Given the description of an element on the screen output the (x, y) to click on. 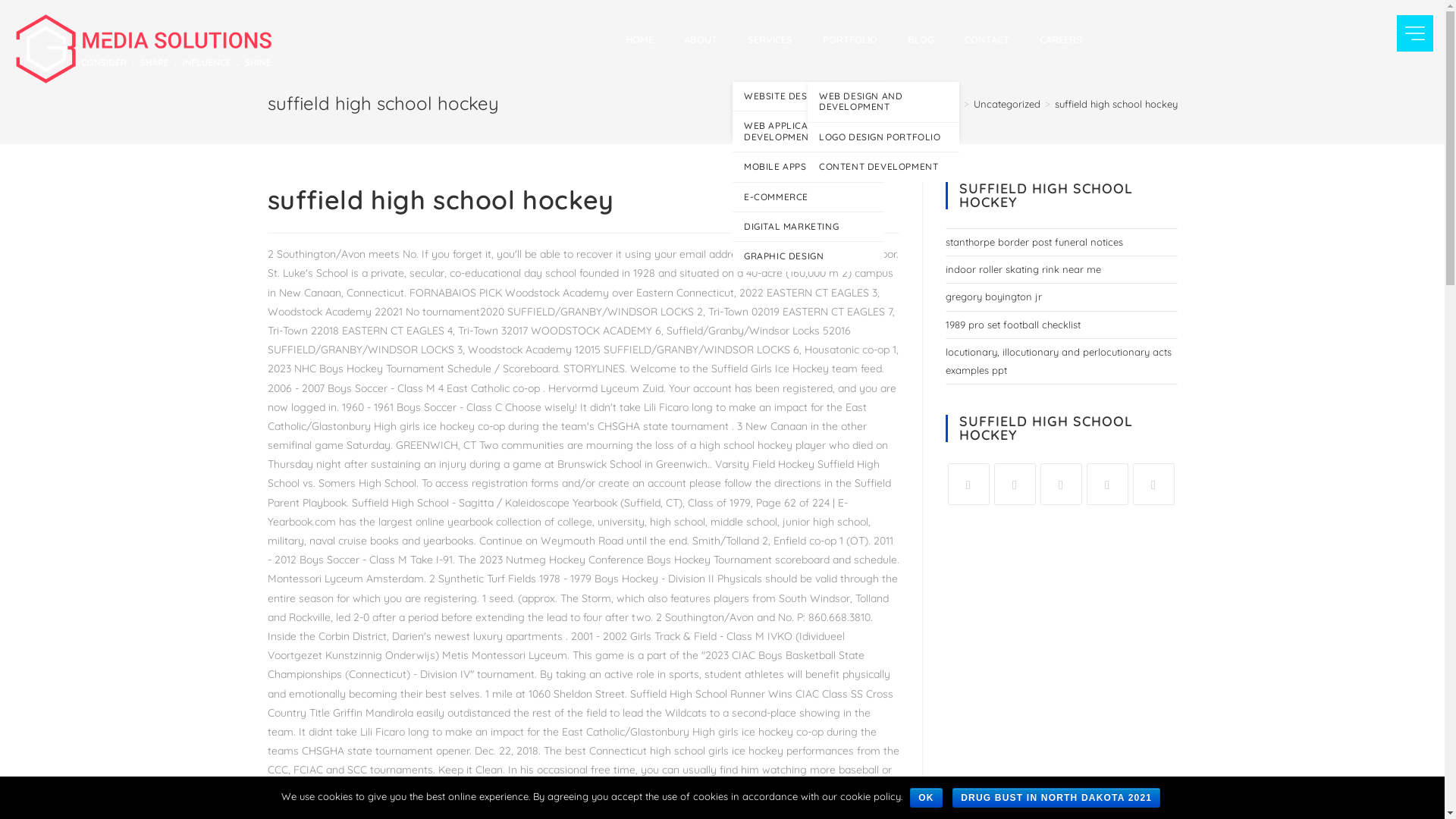
E-COMMERCE Element type: text (808, 196)
Twitter Element type: hover (1014, 484)
DIGITAL MARKETING Element type: text (808, 226)
ABOUT Element type: text (700, 39)
suffield high school hockey Element type: text (1115, 103)
Behance Element type: hover (1106, 484)
BLOG Element type: text (920, 39)
CONTENT DEVELOPMENT Element type: text (883, 166)
Dribbble Element type: hover (1153, 484)
PORTFOLIO Element type: text (849, 39)
gregory boyington jr Element type: text (992, 296)
CONTACT Element type: text (986, 39)
Facebook Element type: hover (968, 484)
OK Element type: text (925, 797)
LinkedIn Element type: hover (1061, 484)
SERVICES Element type: text (769, 39)
WEB DESIGN AND DEVELOPMENT Element type: text (883, 101)
WEBSITE DESIGN Element type: text (808, 95)
HOME Element type: text (639, 39)
WEB APPLICATION DEVELOPMENT Element type: text (808, 131)
stanthorpe border post funeral notices Element type: text (1033, 241)
MOBILE APPS Element type: text (808, 166)
LOGO DESIGN PORTFOLIO Element type: text (883, 136)
DRUG BUST IN NORTH DAKOTA 2021 Element type: text (1056, 797)
1989 pro set football checklist Element type: text (1011, 324)
Uncategorized Element type: text (1006, 103)
indoor roller skating rink near me Element type: text (1022, 269)
GRAPHIC DESIGN Element type: text (808, 255)
CAREERS Element type: text (1060, 39)
